Given the description of an element on the screen output the (x, y) to click on. 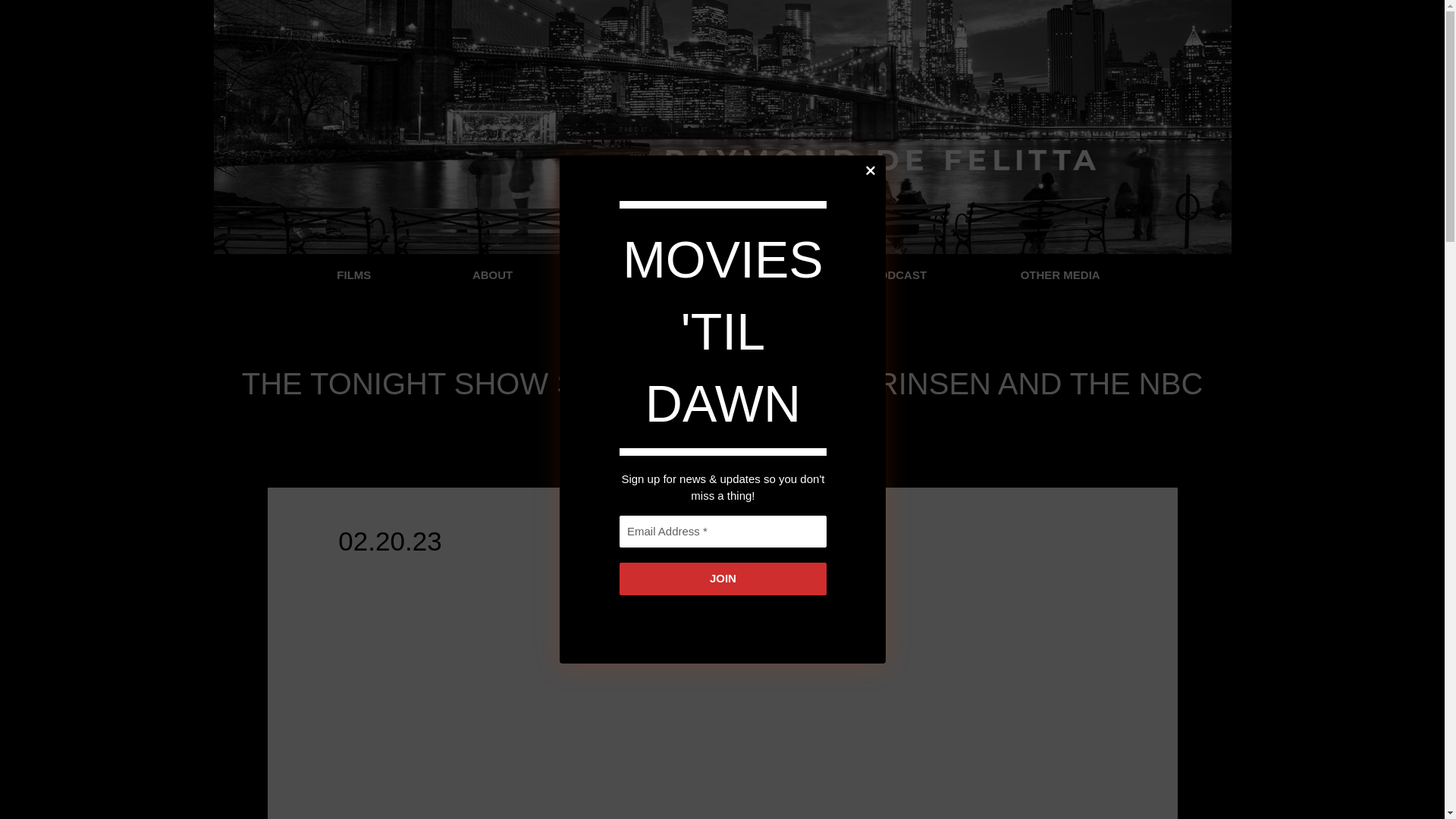
BLOG (760, 274)
MUSIC (628, 274)
JOIN (721, 578)
FILMS (357, 274)
Email Address (721, 531)
PODCAST (899, 274)
OTHER MEDIA (1064, 274)
ABOUT (492, 274)
